Given the description of an element on the screen output the (x, y) to click on. 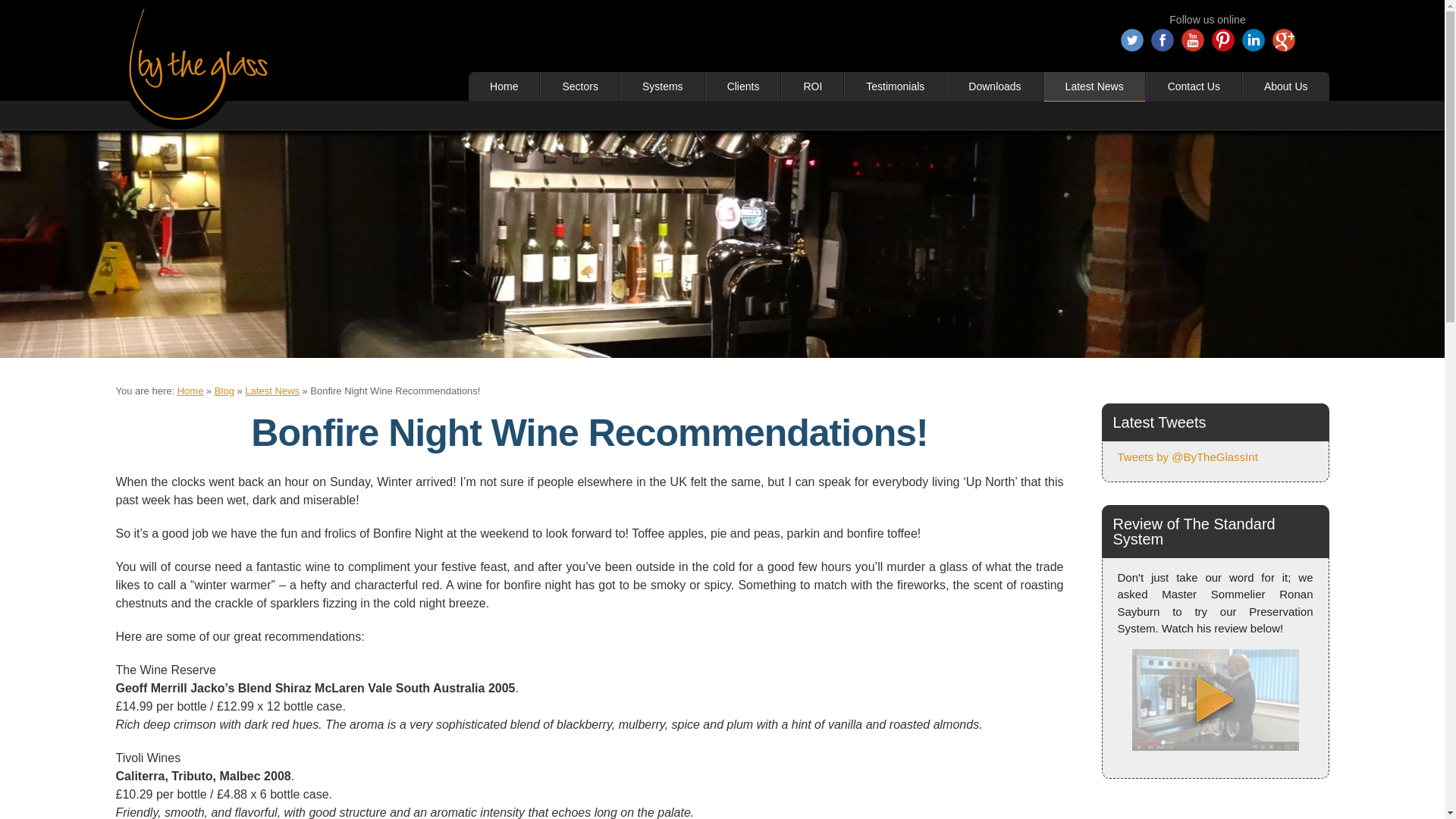
Testimonials (895, 86)
Sectors (580, 86)
Home (504, 86)
Downloads (994, 86)
ROI (812, 86)
Blog (224, 390)
About Us (1285, 86)
Contact Us (1193, 86)
Home (190, 390)
Latest News (1094, 86)
